Given the description of an element on the screen output the (x, y) to click on. 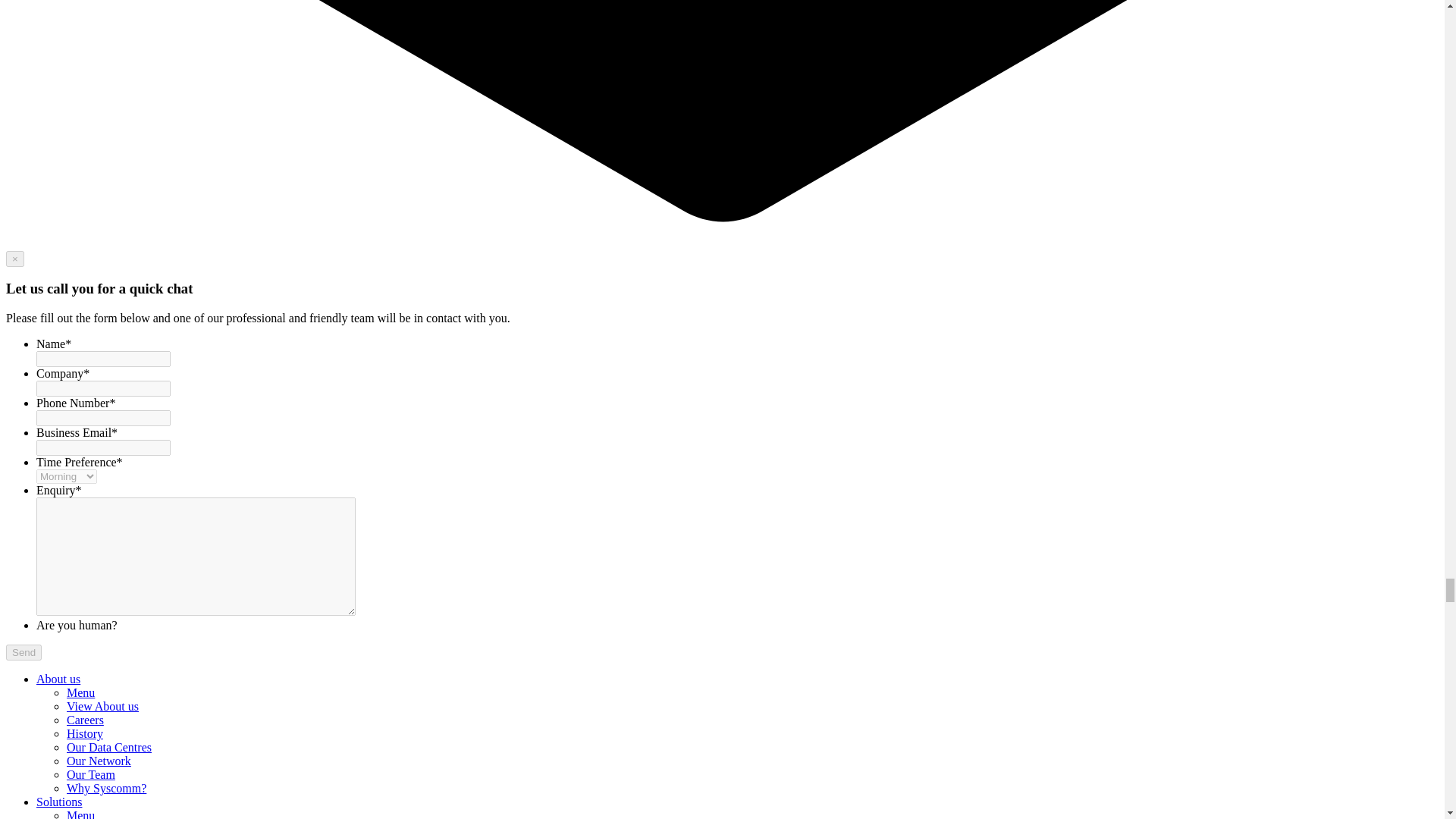
Menu (80, 692)
Send (23, 652)
View About us (102, 706)
Menu (80, 814)
Solutions (58, 801)
Send (23, 652)
About us (58, 678)
